Given the description of an element on the screen output the (x, y) to click on. 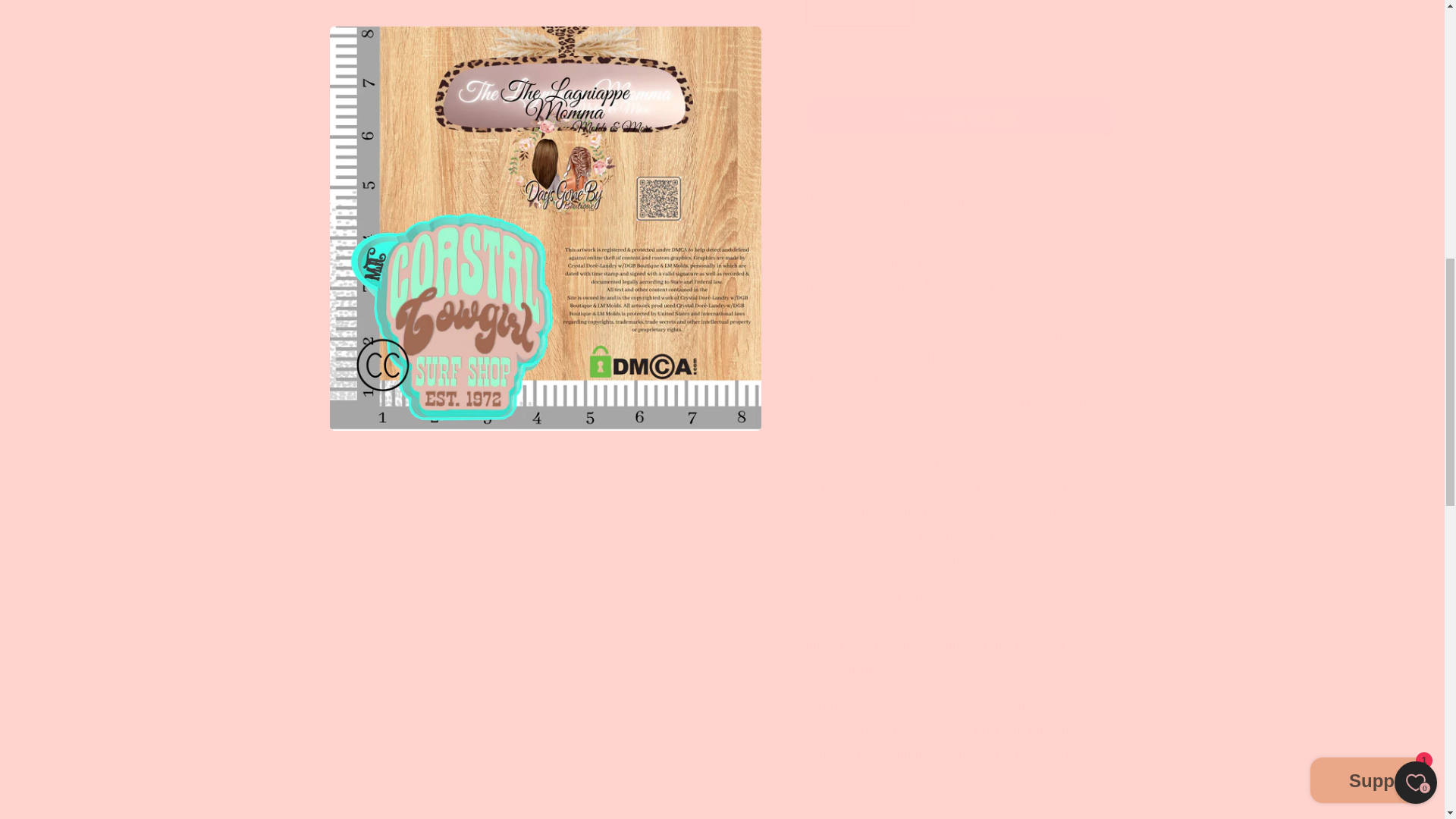
Open media 1 in modal (545, 7)
1 (860, 7)
